Given the description of an element on the screen output the (x, y) to click on. 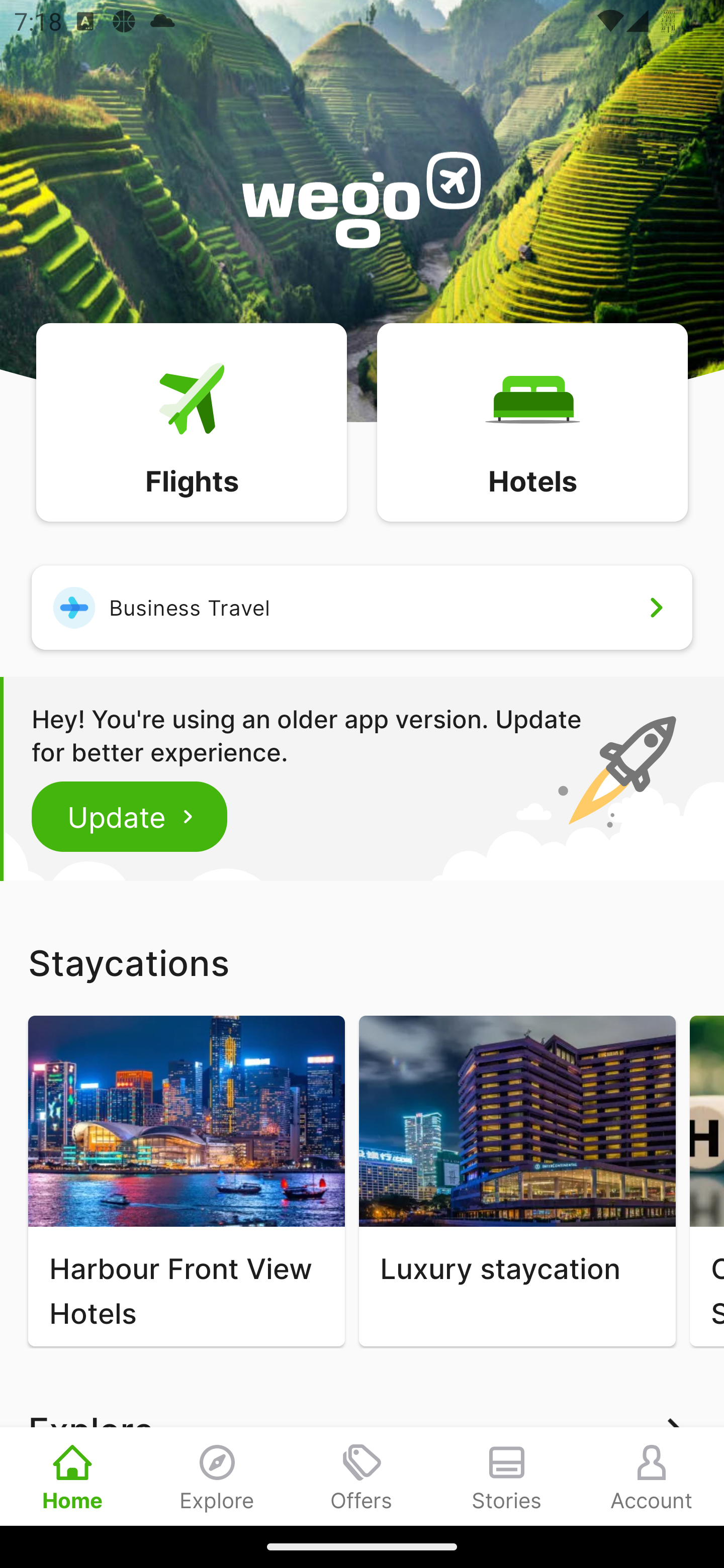
Flights (191, 420)
Hotels (532, 420)
Business Travel (361, 607)
Update (129, 815)
Staycations (362, 962)
Harbour Front View Hotels (186, 1181)
Luxury staycation (517, 1181)
Explore (216, 1475)
Offers (361, 1475)
Stories (506, 1475)
Account (651, 1475)
